Given the description of an element on the screen output the (x, y) to click on. 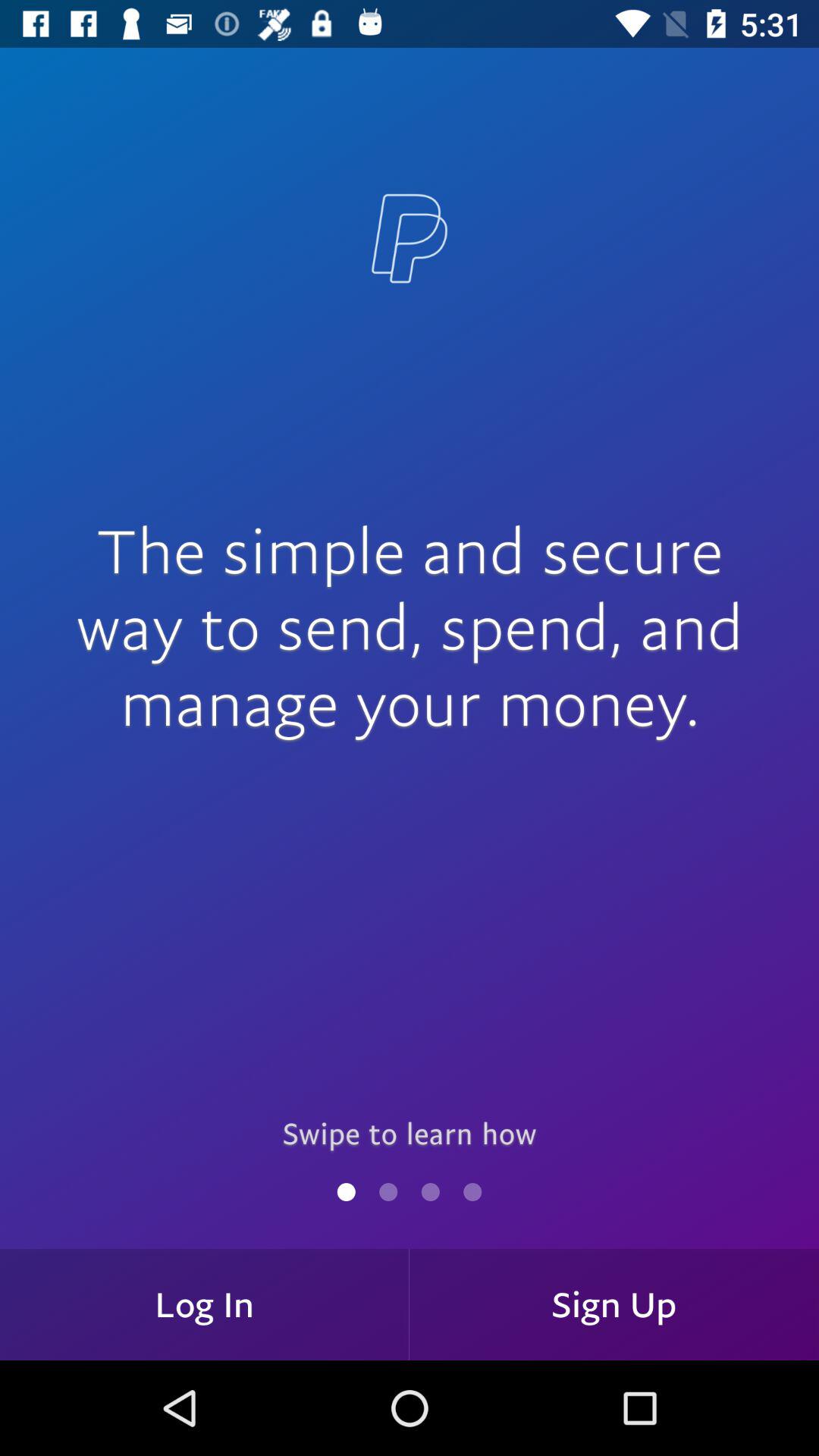
flip until log in icon (204, 1304)
